Given the description of an element on the screen output the (x, y) to click on. 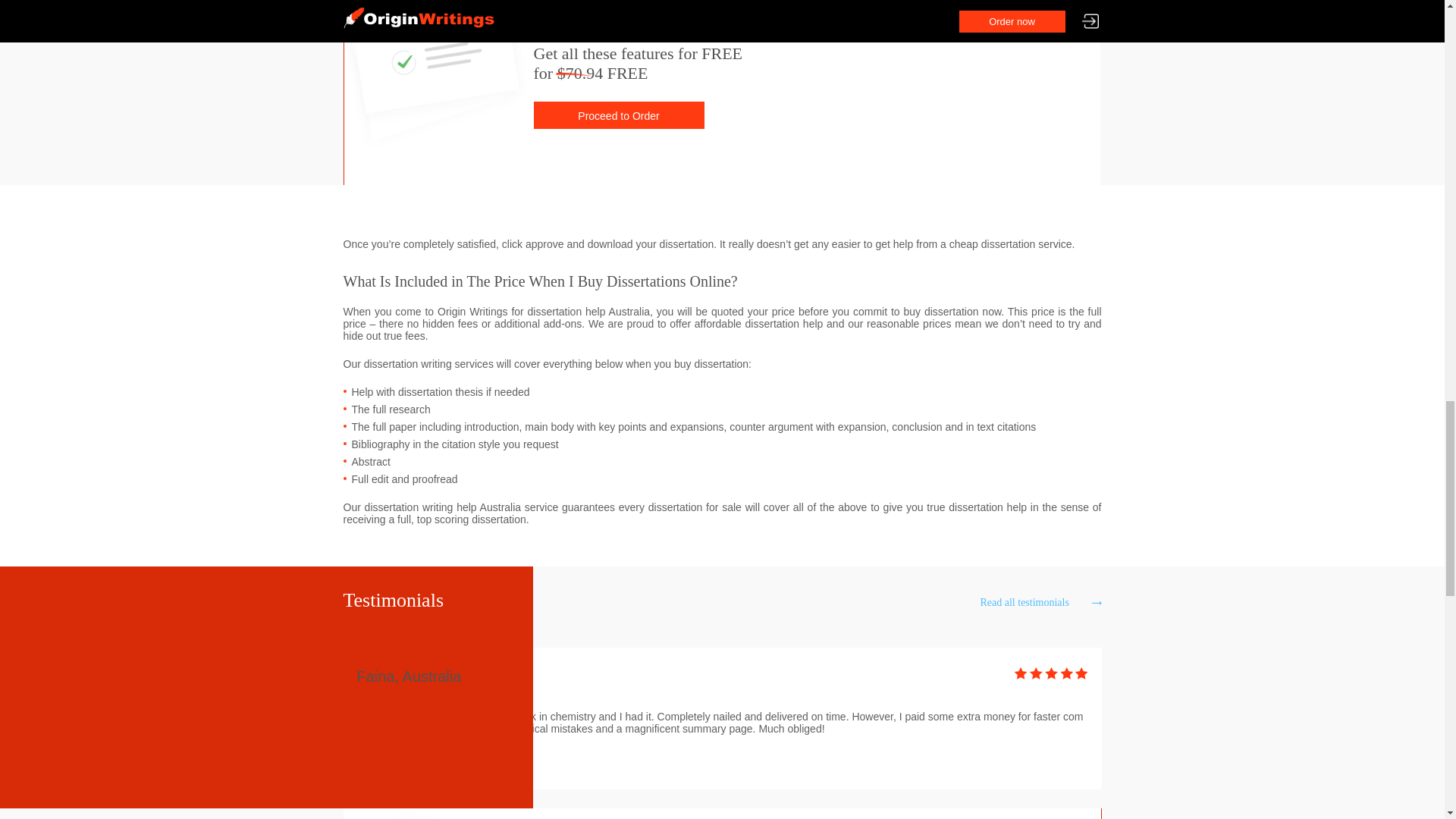
Proceed to Order (619, 114)
Read all testimonials (1039, 603)
